Given the description of an element on the screen output the (x, y) to click on. 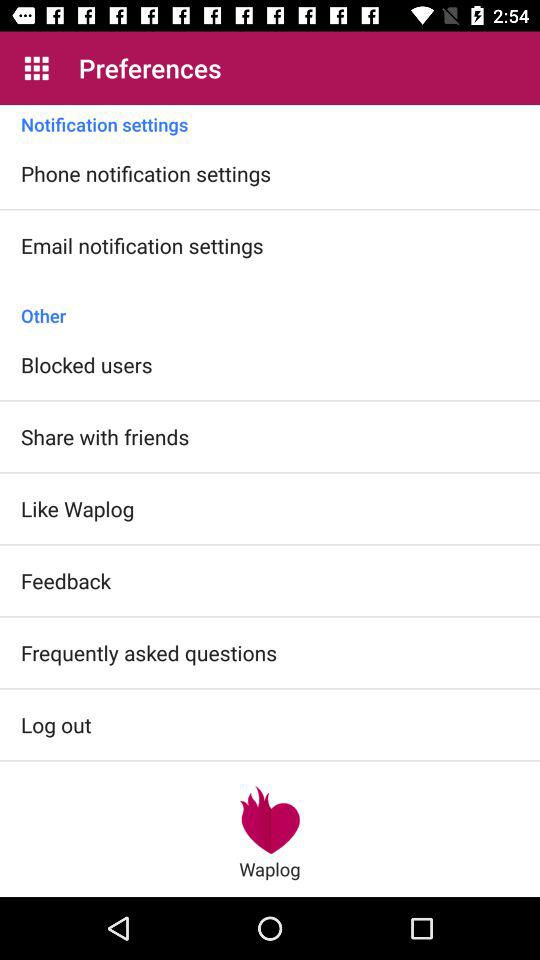
launch the frequently asked questions item (149, 652)
